Given the description of an element on the screen output the (x, y) to click on. 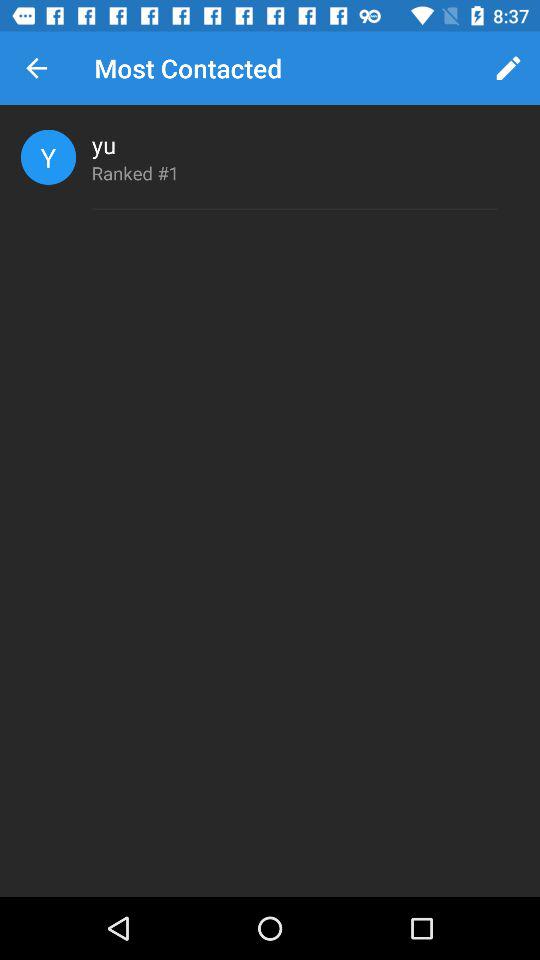
tap the icon next to the yu icon (48, 156)
